Given the description of an element on the screen output the (x, y) to click on. 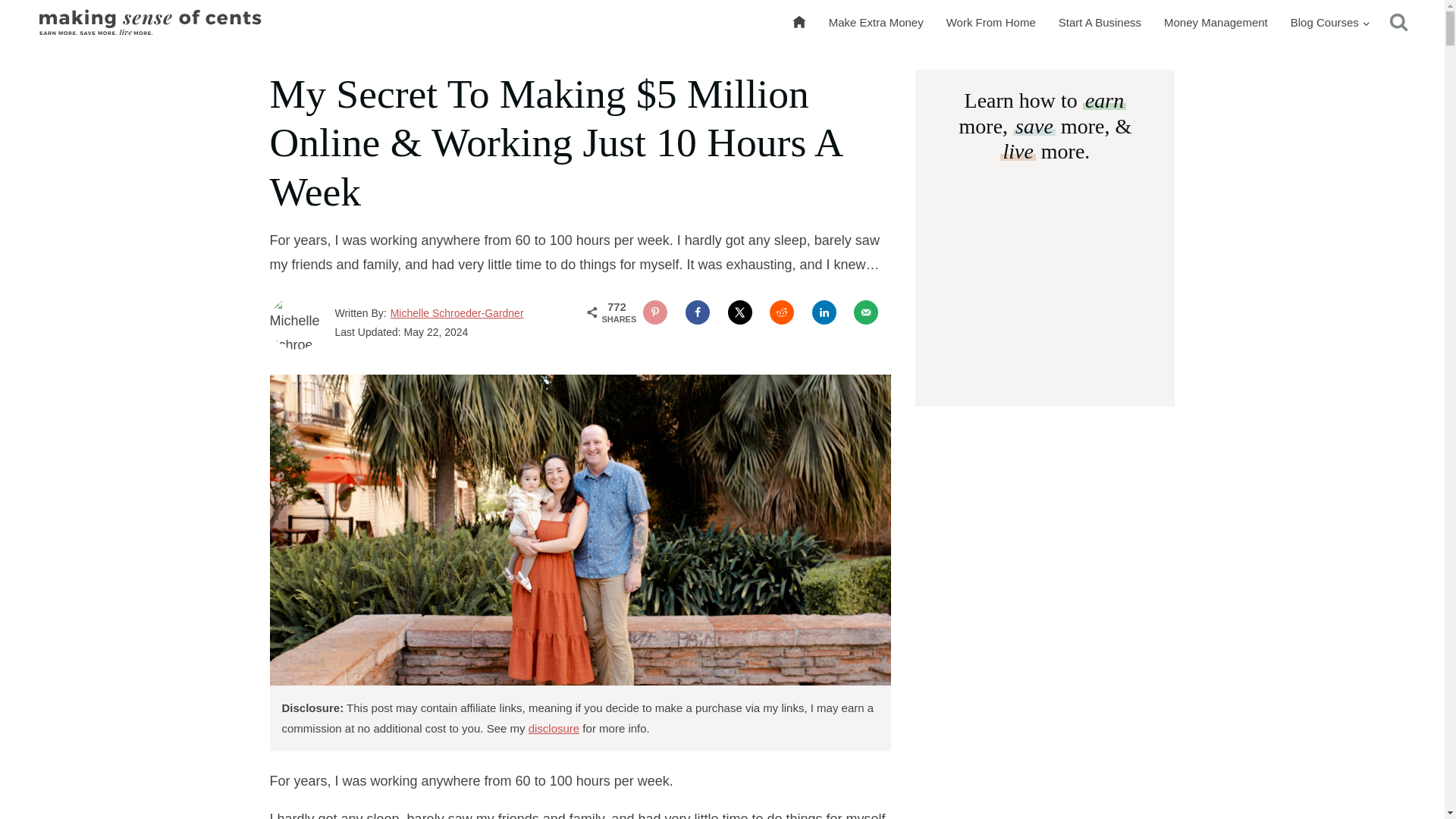
Share on Facebook (697, 312)
Share on X (740, 312)
Blog Courses (1330, 22)
Start A Business (1099, 22)
Share on LinkedIn (823, 312)
Make Extra Money (875, 22)
Money Management (1216, 22)
Share on Reddit (781, 312)
Save to Pinterest (654, 312)
Send over email (865, 312)
Work From Home (990, 22)
disclosure (553, 727)
Michelle Schroeder-Gardner (457, 312)
